Given the description of an element on the screen output the (x, y) to click on. 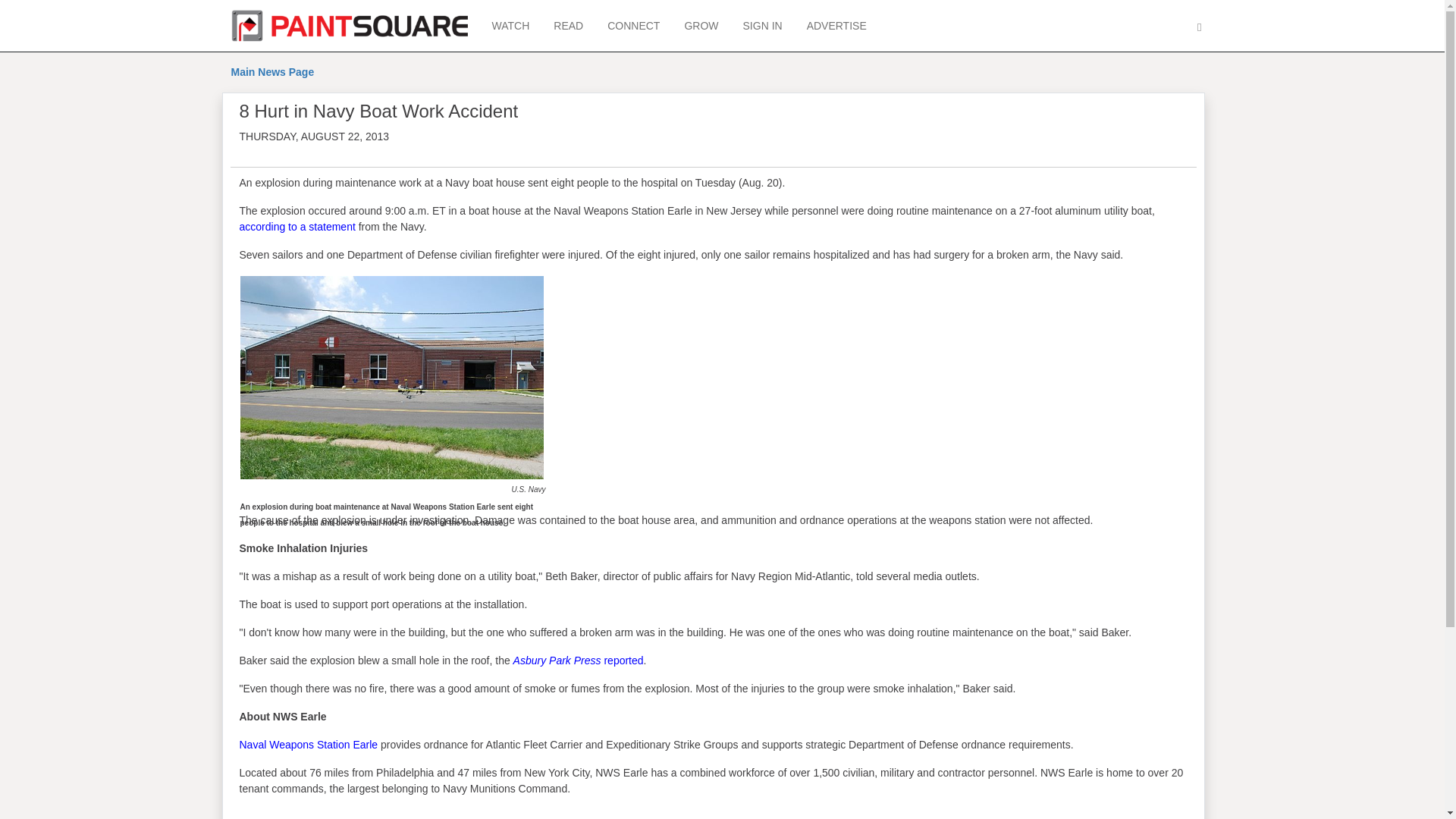
READ (568, 26)
WATCH (510, 26)
PaintSquare Home (348, 25)
